Given the description of an element on the screen output the (x, y) to click on. 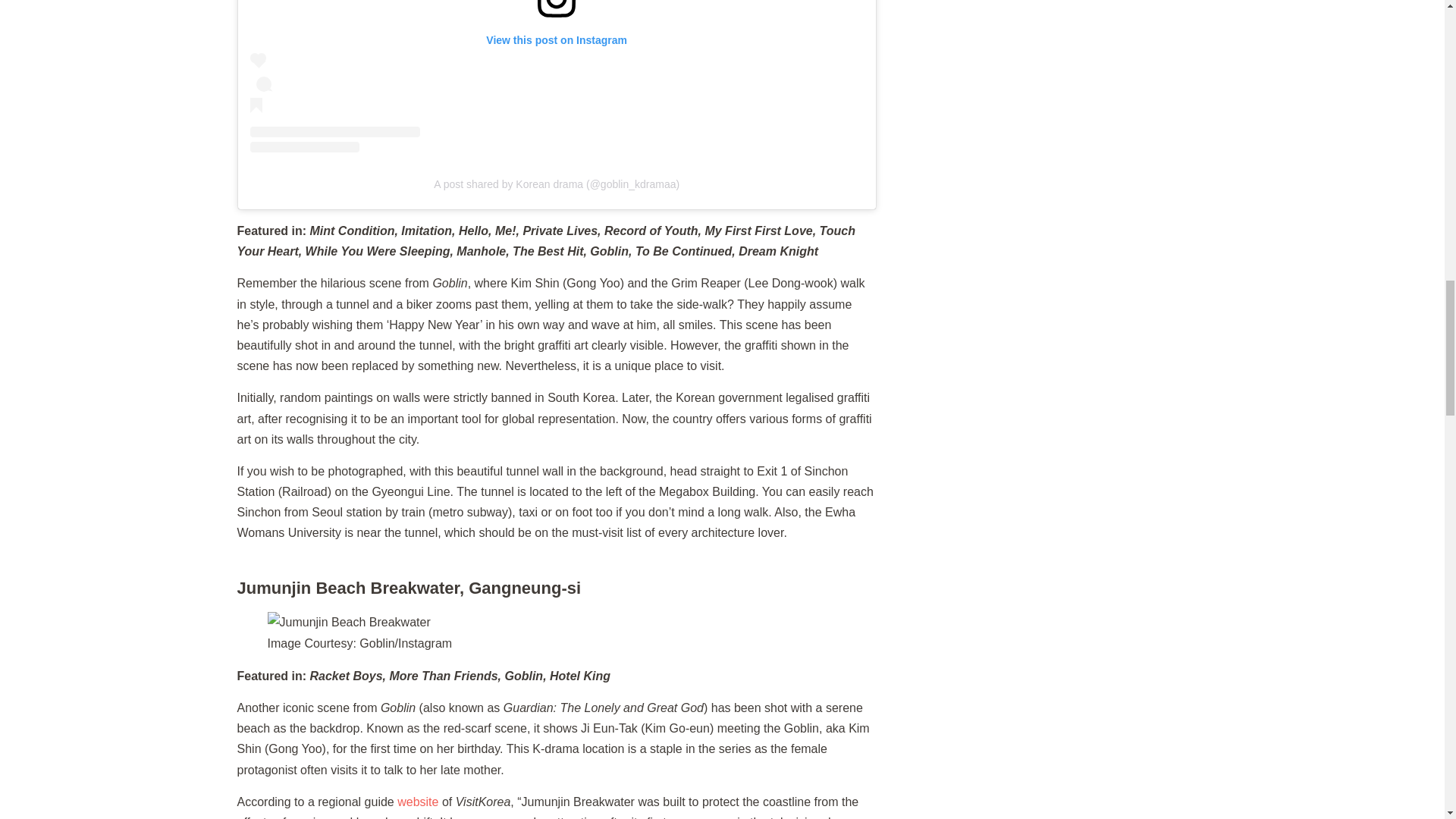
View this post on Instagram (556, 76)
website (417, 801)
